Given the description of an element on the screen output the (x, y) to click on. 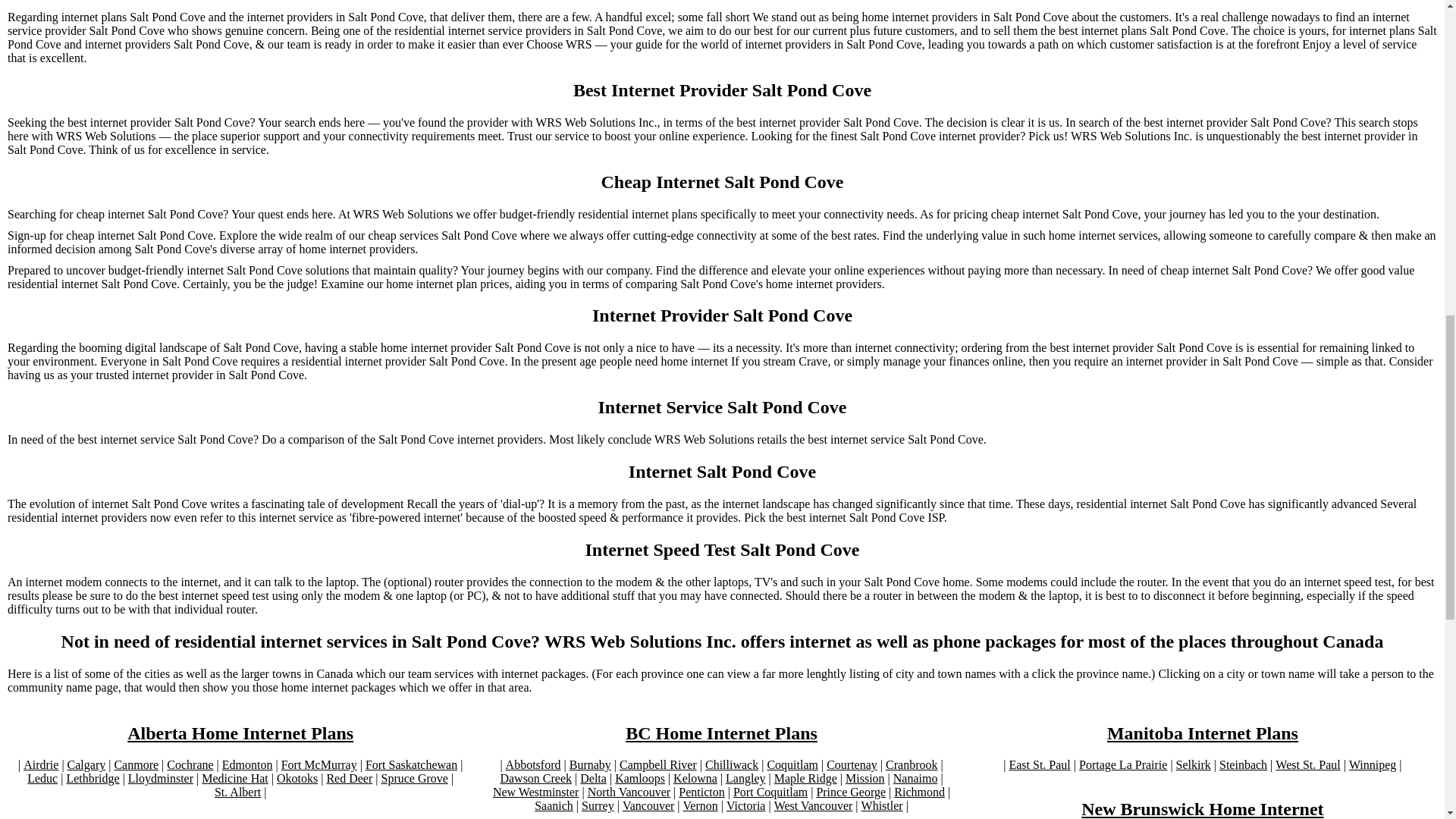
Chilliwack (731, 765)
Abbotsford (532, 765)
Leduc (42, 778)
Medicine Hat (234, 778)
Fort Saskatchewan (411, 765)
Airdrie (40, 765)
Lloydminster (160, 778)
Alberta Home Internet Plans (240, 733)
St. Albert (237, 792)
Cochrane (189, 765)
